Given the description of an element on the screen output the (x, y) to click on. 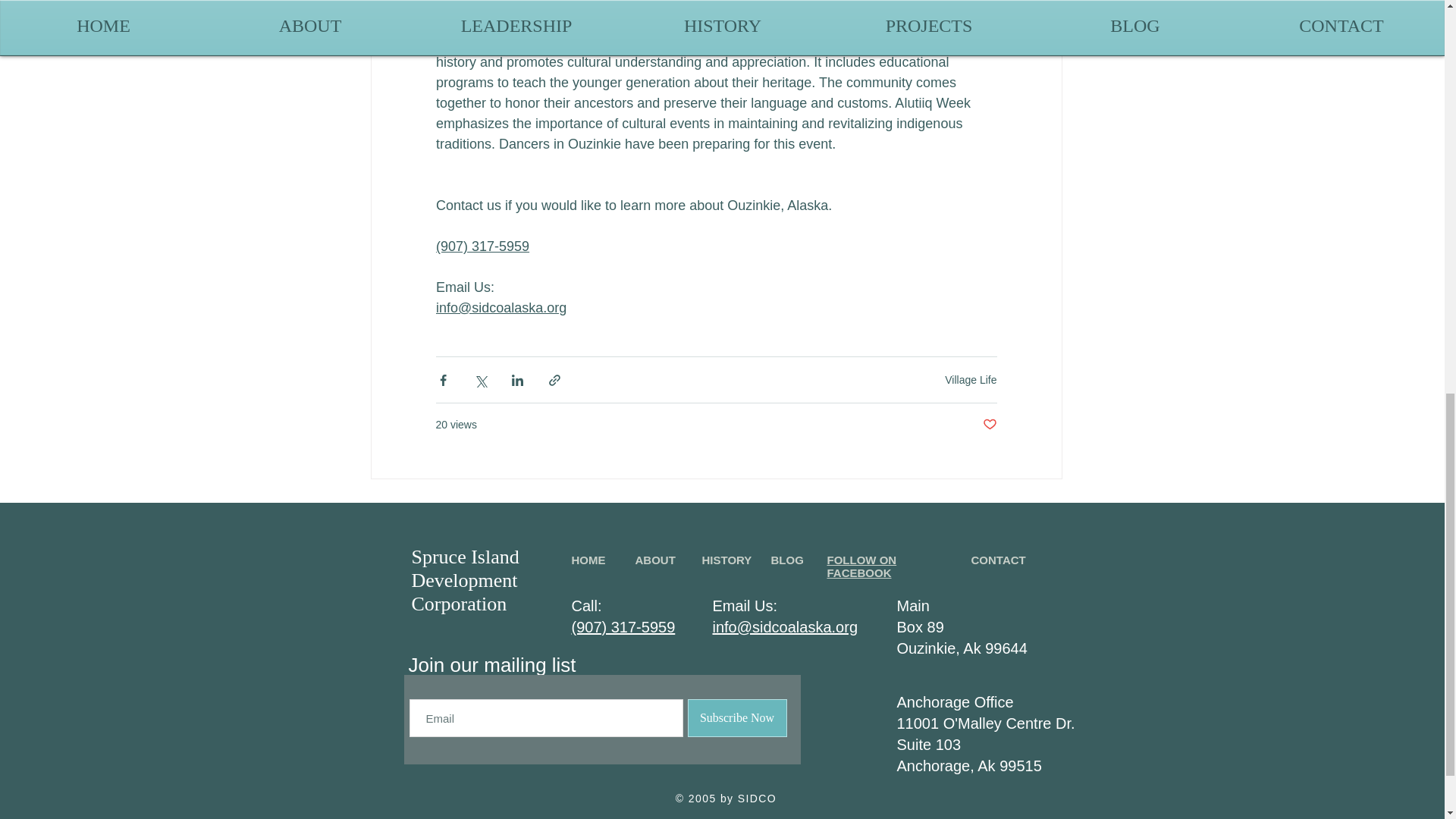
ABOUT (654, 559)
FOLLOW ON FACEBOOK (861, 566)
Spruce Island Development Corporation (464, 580)
Post not marked as liked (989, 424)
CONTACT (998, 559)
HISTORY (726, 559)
Subscribe Now (736, 718)
Village Life (969, 378)
HOME (588, 559)
BLOG (786, 559)
